Given the description of an element on the screen output the (x, y) to click on. 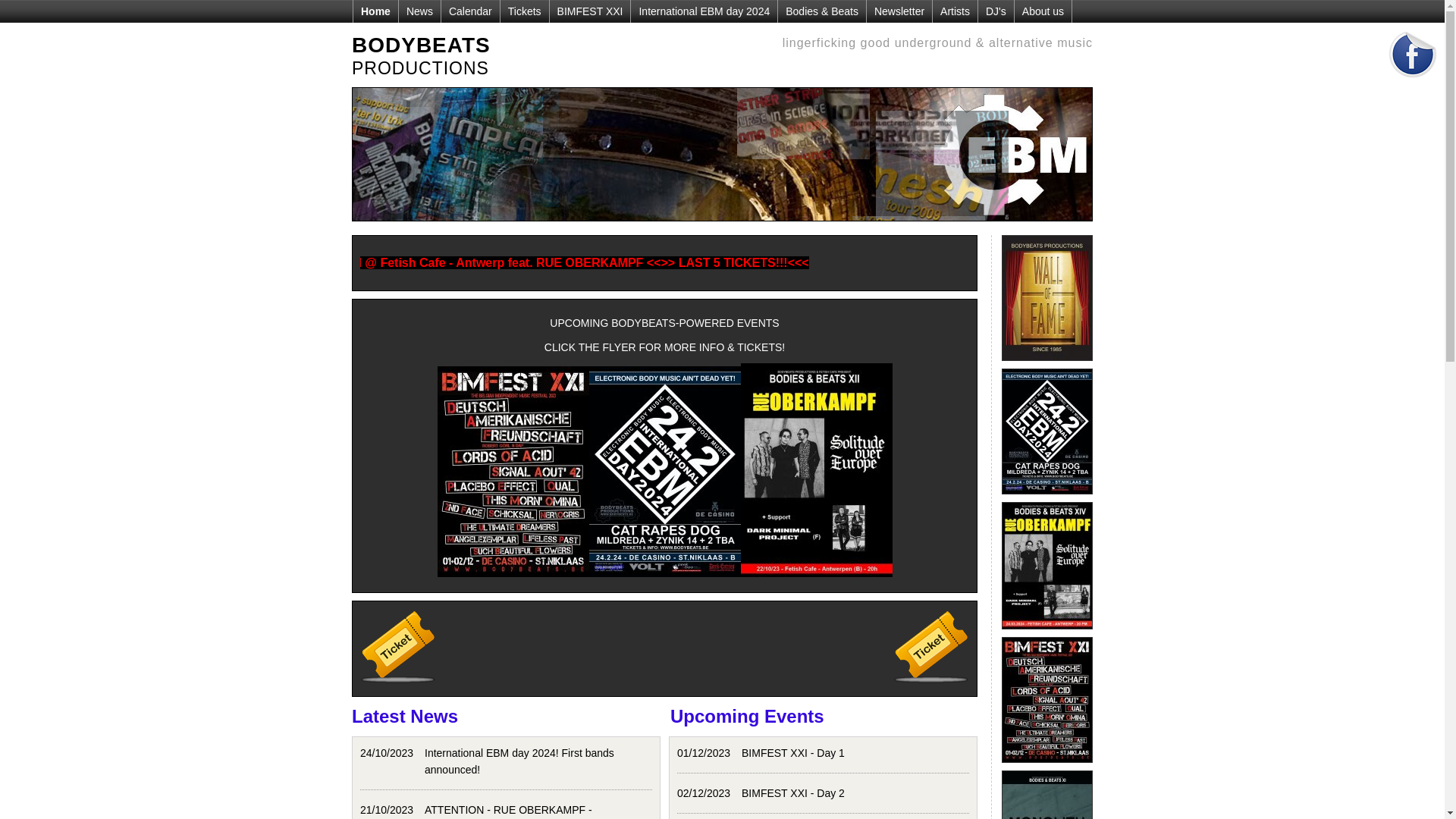
BIMFEST XXI Element type: text (589, 11)
DJ's Element type: text (995, 11)
Calendar Element type: text (469, 11)
Buy Your Tickets TODAY Element type: hover (931, 646)
Tickets Element type: text (524, 11)
News Element type: text (419, 11)
01/12/2023
BIMFEST XXI - Day 1 Element type: text (823, 752)
Bodies & Beats Element type: text (821, 11)
BODYBEATS PRODUCTIONS' WALL OF FAME ... SINCE 1985! Element type: hover (1046, 364)
24.03 Bodies & Beats XIII - Feat RUE OBERKAMPF Element type: hover (1046, 633)
BodyBeats @ facebook Element type: hover (1412, 82)
BIMFEST XXI @ De Casino - St-Niklaas - B Element type: hover (1046, 766)
International EBM day 2024 Element type: text (703, 11)
02/12/2023
BIMFEST XXI - Day 2 Element type: text (823, 792)
Artists Element type: text (954, 11)
International EBM day 2024 Element type: hover (1046, 498)
Newsletter Element type: text (898, 11)
Buy Your Tickets TODAY Element type: hover (398, 646)
Home Element type: text (375, 11)
About us Element type: text (1042, 11)
